Given the description of an element on the screen output the (x, y) to click on. 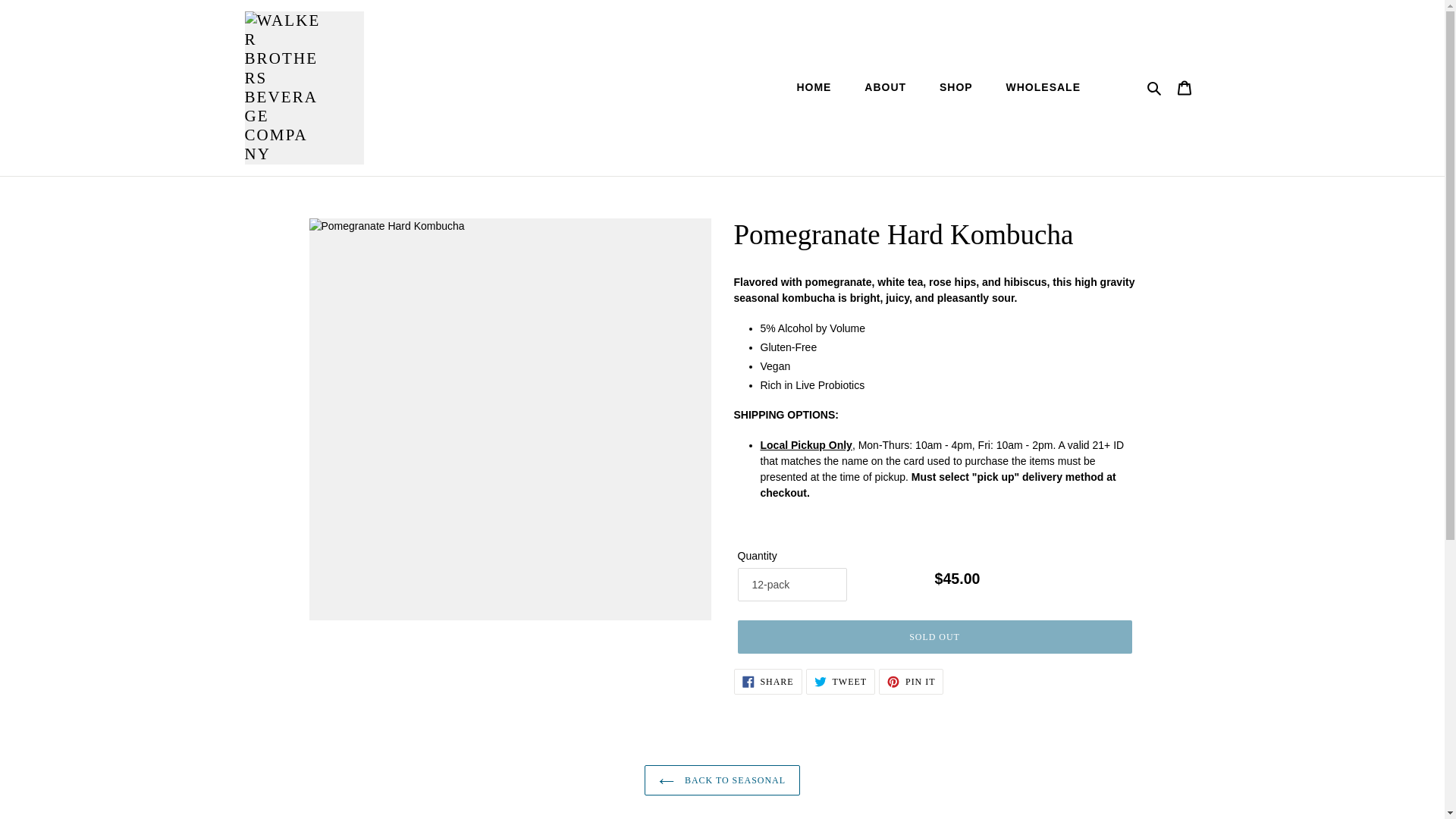
ABOUT (884, 86)
Cart (840, 681)
SHOP (767, 681)
WHOLESALE (1183, 87)
SOLD OUT (911, 681)
BACK TO SEASONAL (956, 86)
Search (1035, 86)
